Given the description of an element on the screen output the (x, y) to click on. 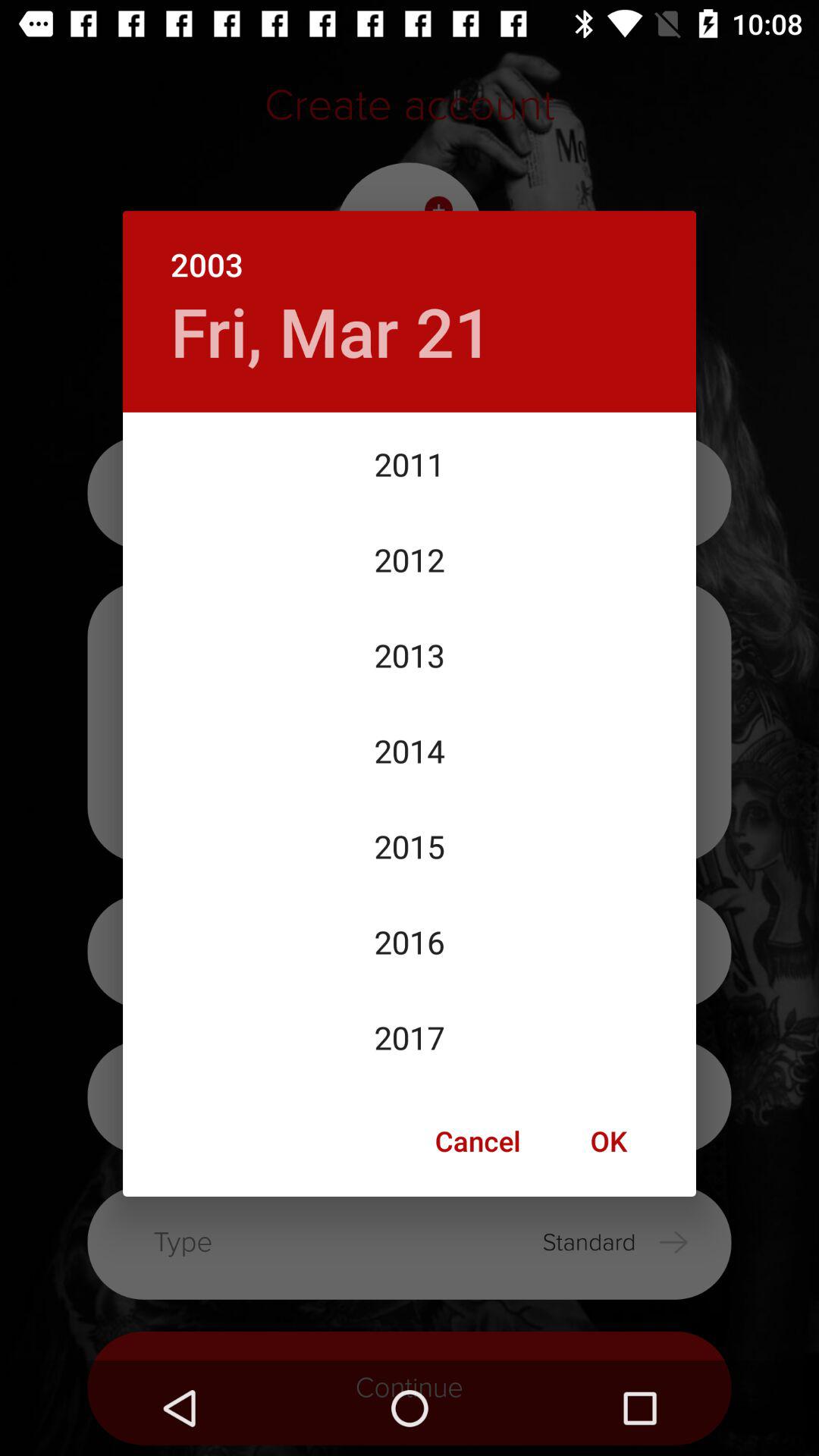
turn on the icon above the fri, mar 21 item (409, 248)
